Given the description of an element on the screen output the (x, y) to click on. 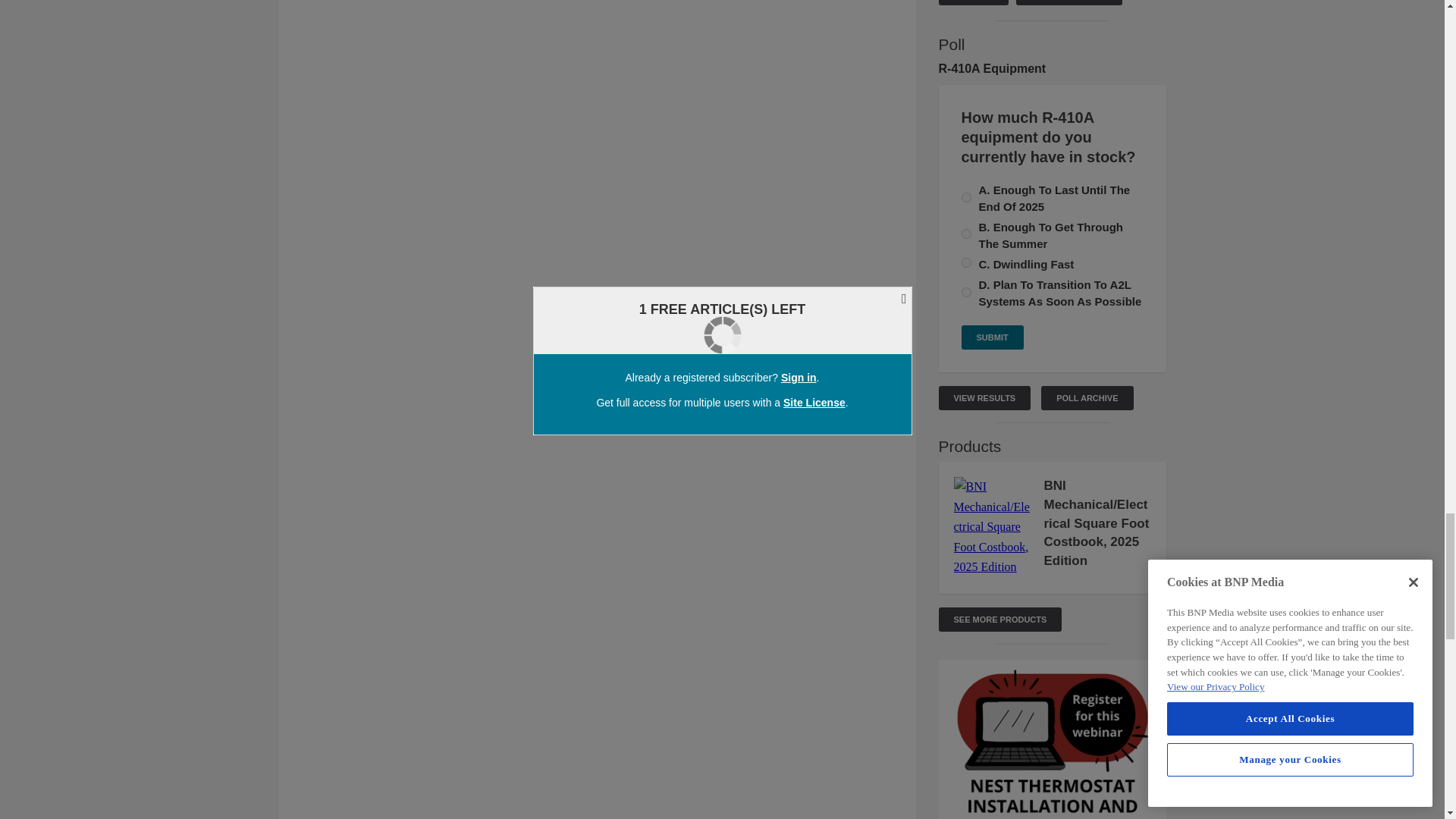
598 (965, 262)
597 (965, 197)
Submit (991, 337)
596 (965, 234)
599 (965, 292)
